Given the description of an element on the screen output the (x, y) to click on. 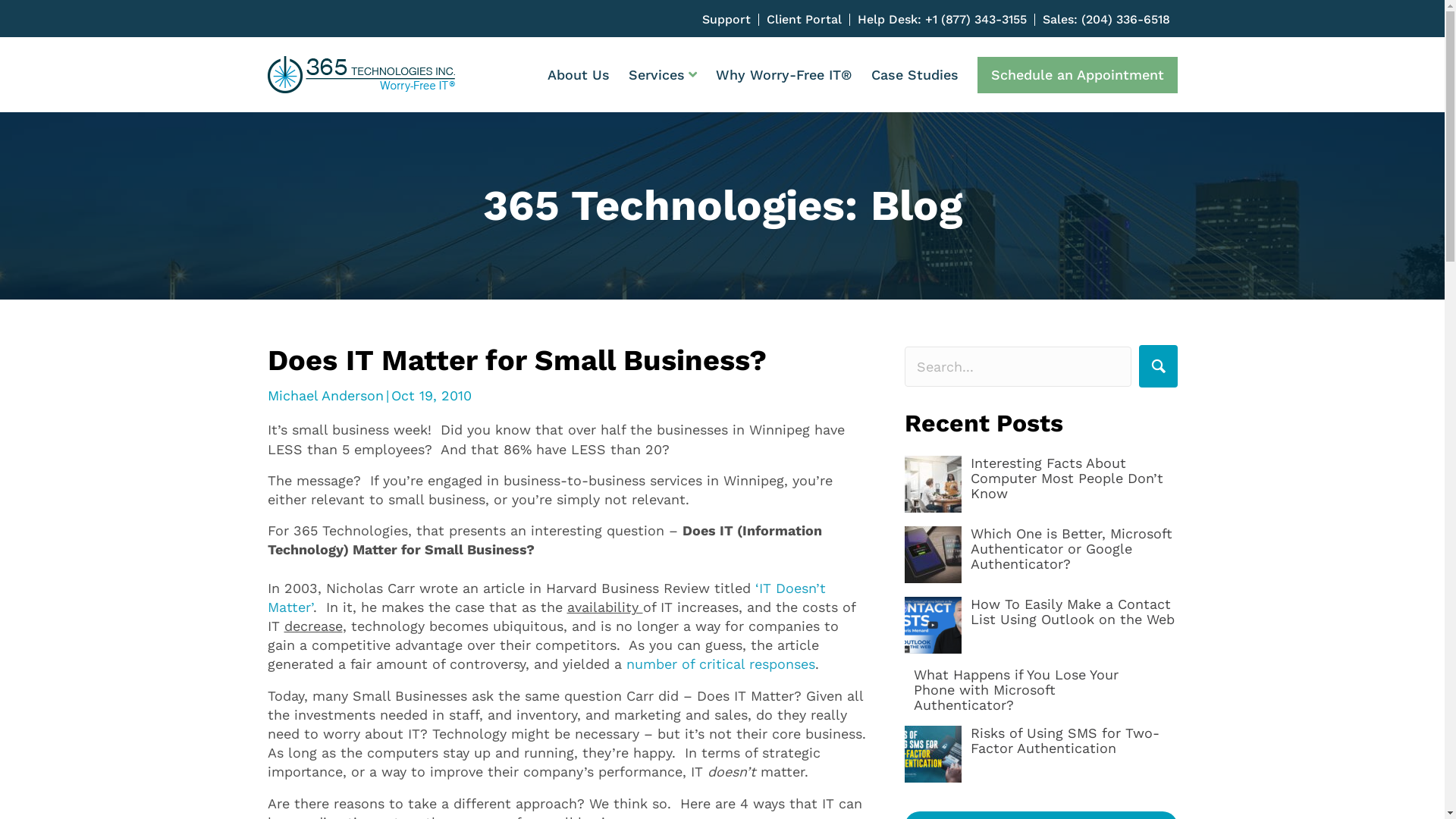
Schedule an Appointment Element type: text (1076, 74)
How To Easily Make a Contact List Using Outlook on the Web Element type: text (1072, 611)
Sales: (204) 336-6518 Element type: text (1108, 19)
365-technologies-logo Element type: hover (360, 74)
Risks of Using SMS for Two-Factor Authentication Element type: hover (931, 753)
Services Element type: text (661, 74)
Support Element type: text (730, 19)
Client Portal Element type: text (807, 19)
Help Desk: +1 (877) 343-3155 Element type: text (945, 19)
About Us Element type: text (578, 74)
number of critical responses Element type: text (720, 663)
Michael Anderson Element type: text (324, 395)
Case Studies Element type: text (913, 74)
Risks of Using SMS for Two-Factor Authentication Element type: text (1064, 740)
How To Easily Make a Contact List Using Outlook on the Web Element type: hover (931, 624)
